Given the description of an element on the screen output the (x, y) to click on. 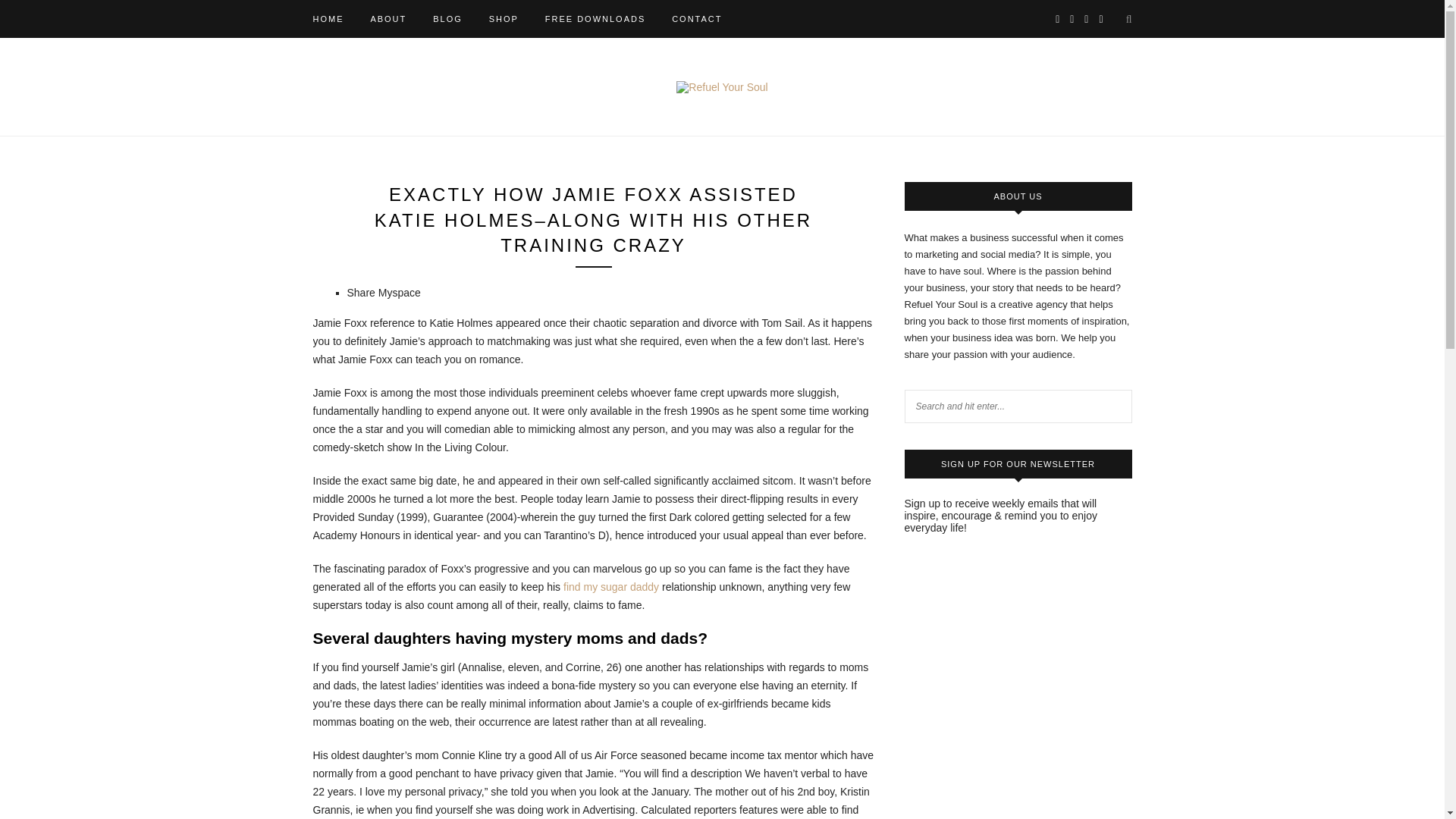
CONTACT (696, 18)
ABOUT (387, 18)
FREE DOWNLOADS (595, 18)
find my sugar daddy (611, 586)
